Given the description of an element on the screen output the (x, y) to click on. 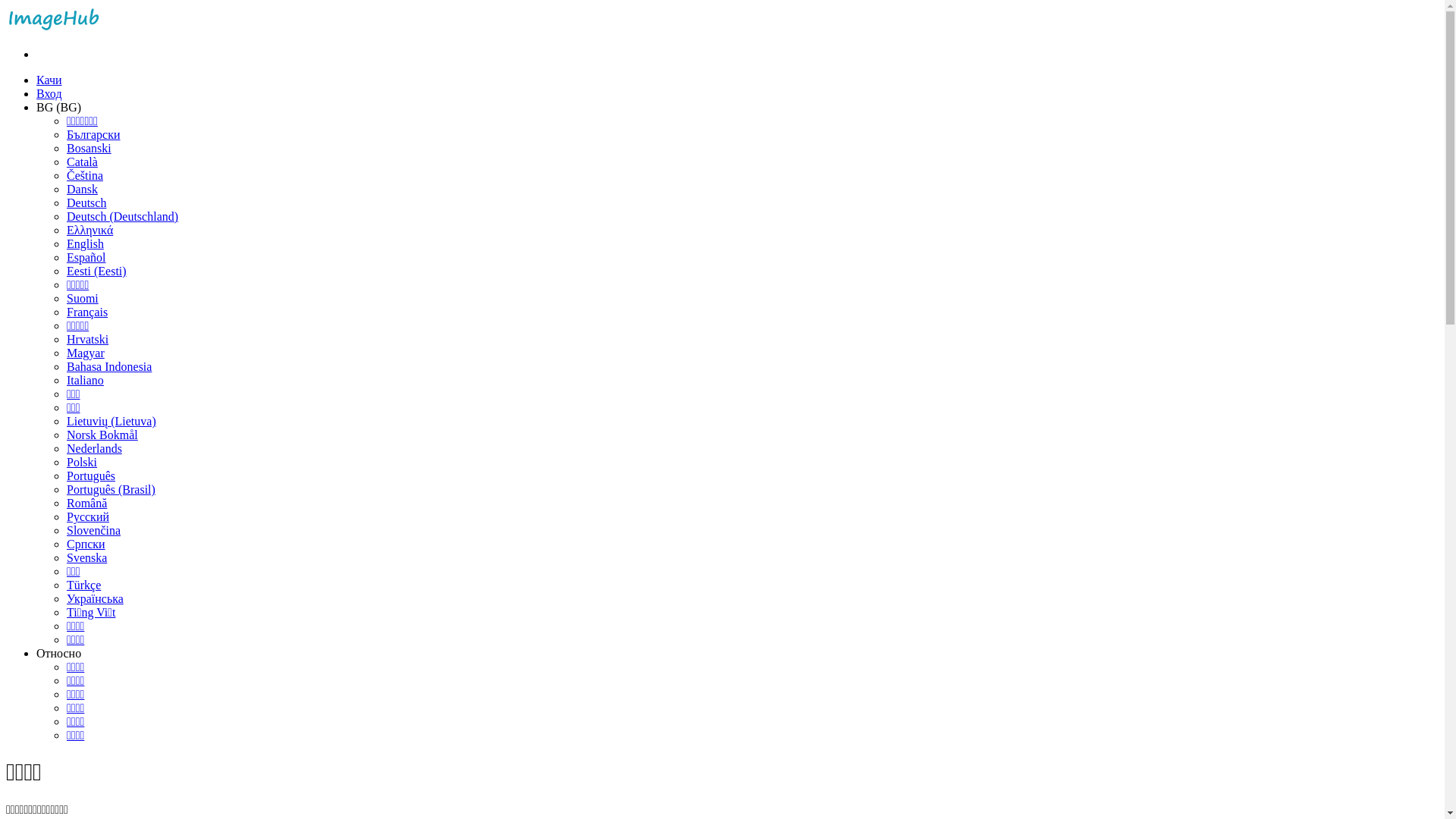
Svenska Element type: text (86, 557)
Deutsch (Deutschland) Element type: text (122, 216)
Polski Element type: text (81, 461)
Dansk Element type: text (81, 188)
Bahasa Indonesia Element type: text (108, 366)
Hrvatski Element type: text (87, 338)
Eesti (Eesti) Element type: text (96, 270)
Italiano Element type: text (84, 379)
Deutsch Element type: text (86, 202)
Magyar Element type: text (85, 352)
Suomi Element type: text (82, 297)
English Element type: text (84, 243)
Nederlands Element type: text (94, 448)
Bosanski Element type: text (88, 147)
